Given the description of an element on the screen output the (x, y) to click on. 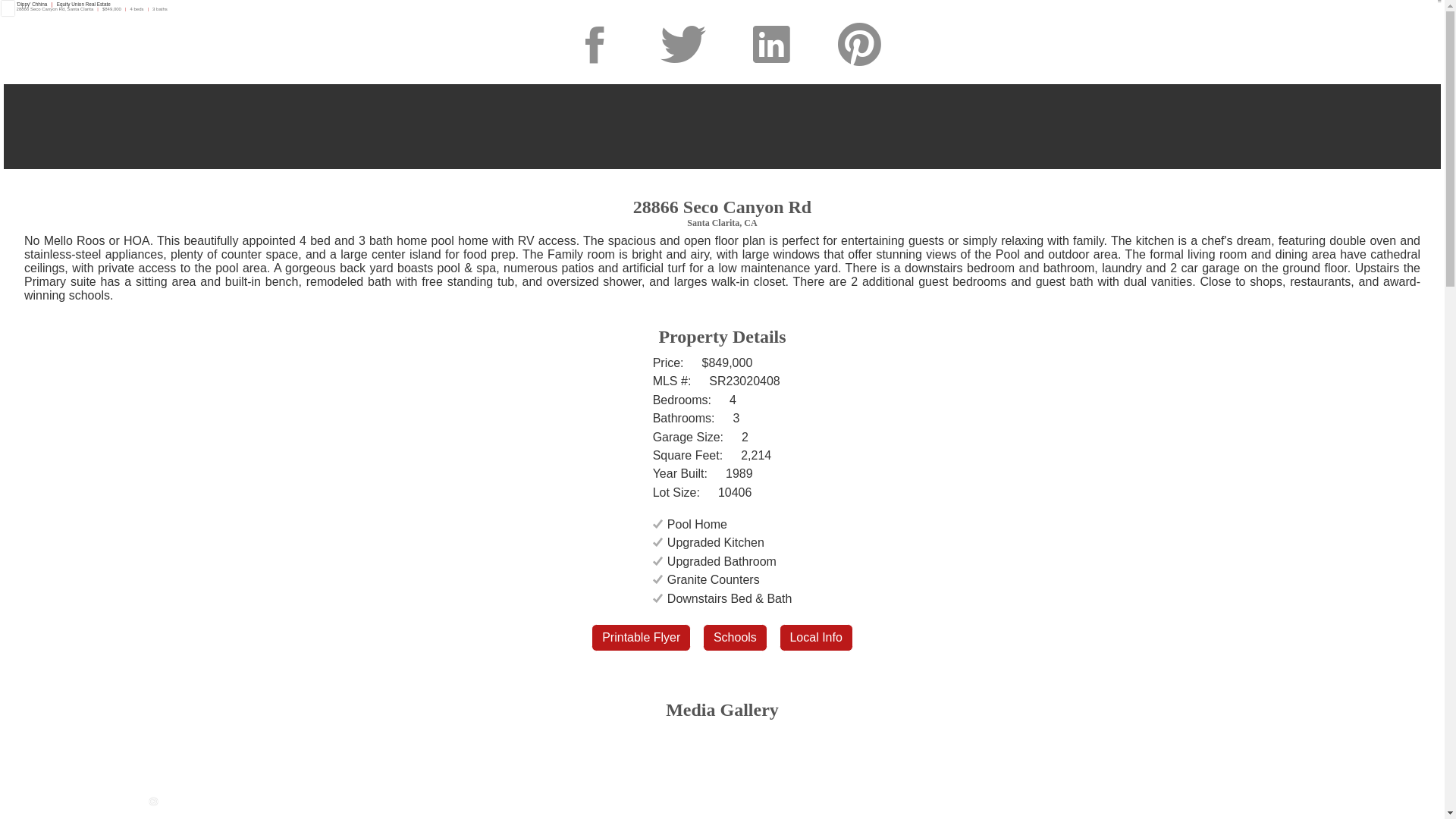
Local Info Element type: text (816, 637)
Schools Element type: text (734, 637)
3D Showcase Element type: hover (721, 126)
Printable Flyer Element type: text (640, 637)
